Given the description of an element on the screen output the (x, y) to click on. 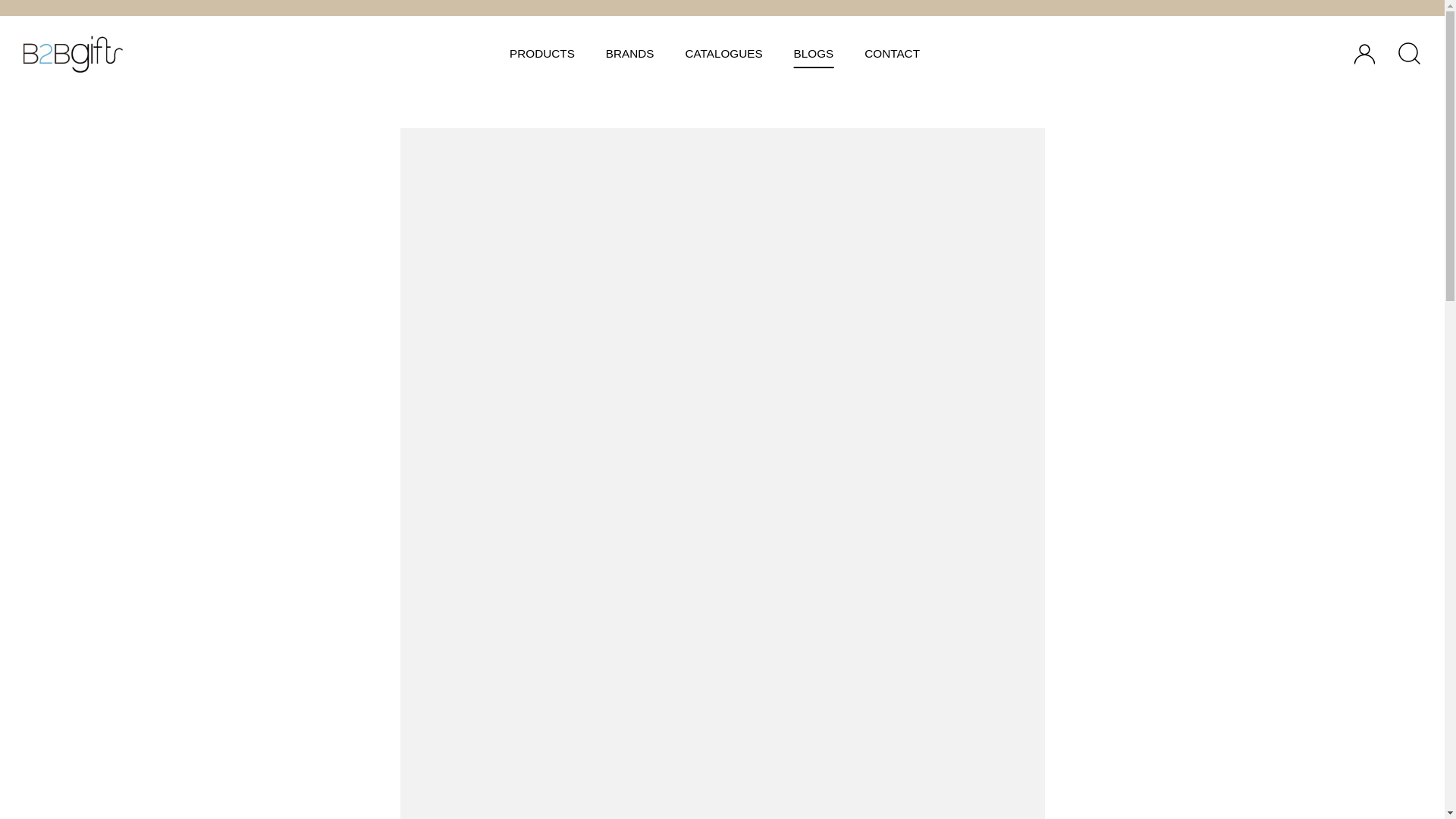
CATALOGUES (723, 53)
BRANDS (628, 53)
CONTACT (892, 53)
BLOGS (812, 53)
PRODUCTS (542, 53)
